Given the description of an element on the screen output the (x, y) to click on. 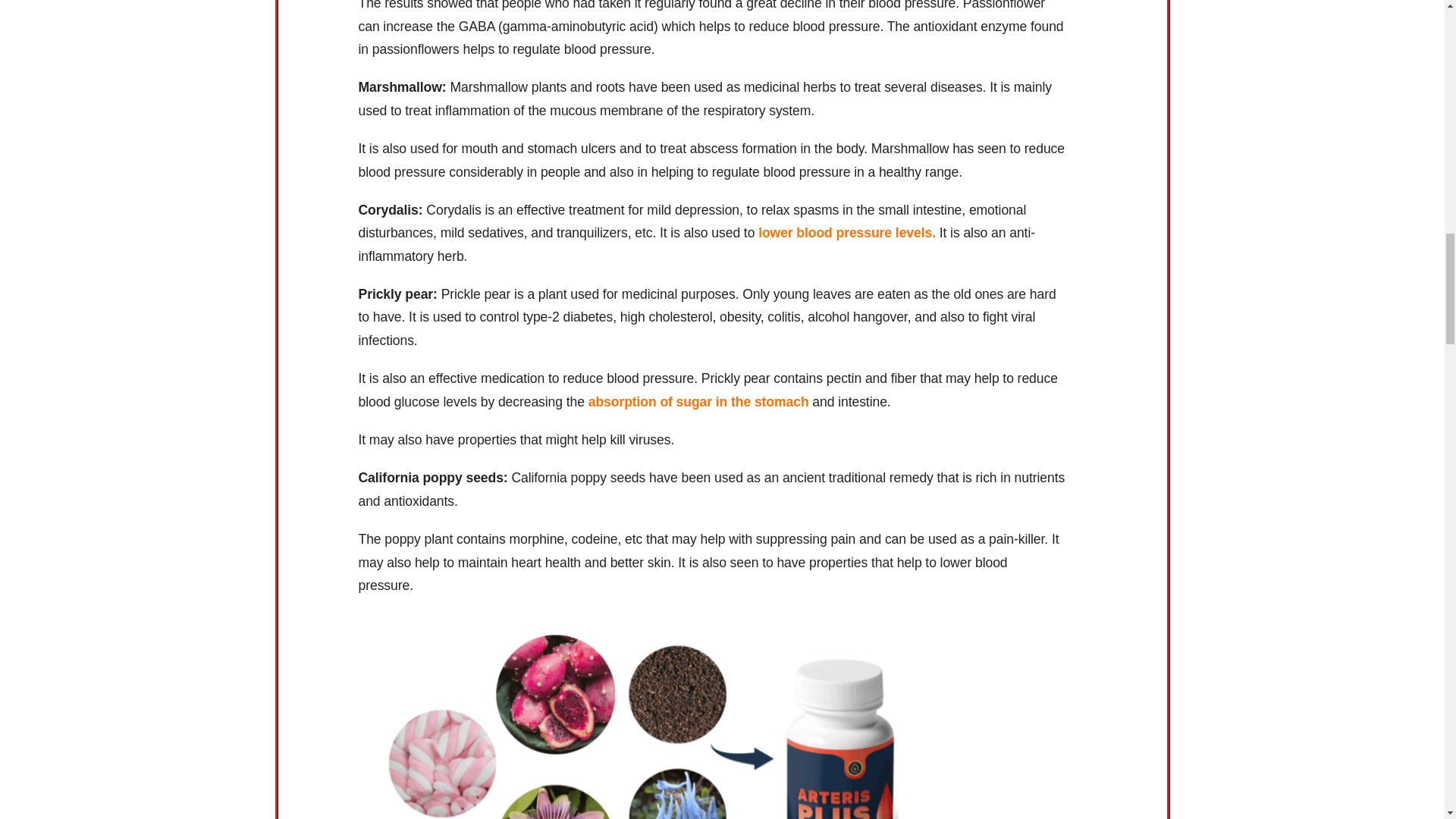
lower blood pressure levels. (847, 232)
absorption of sugar in the stomach (698, 401)
